Given the description of an element on the screen output the (x, y) to click on. 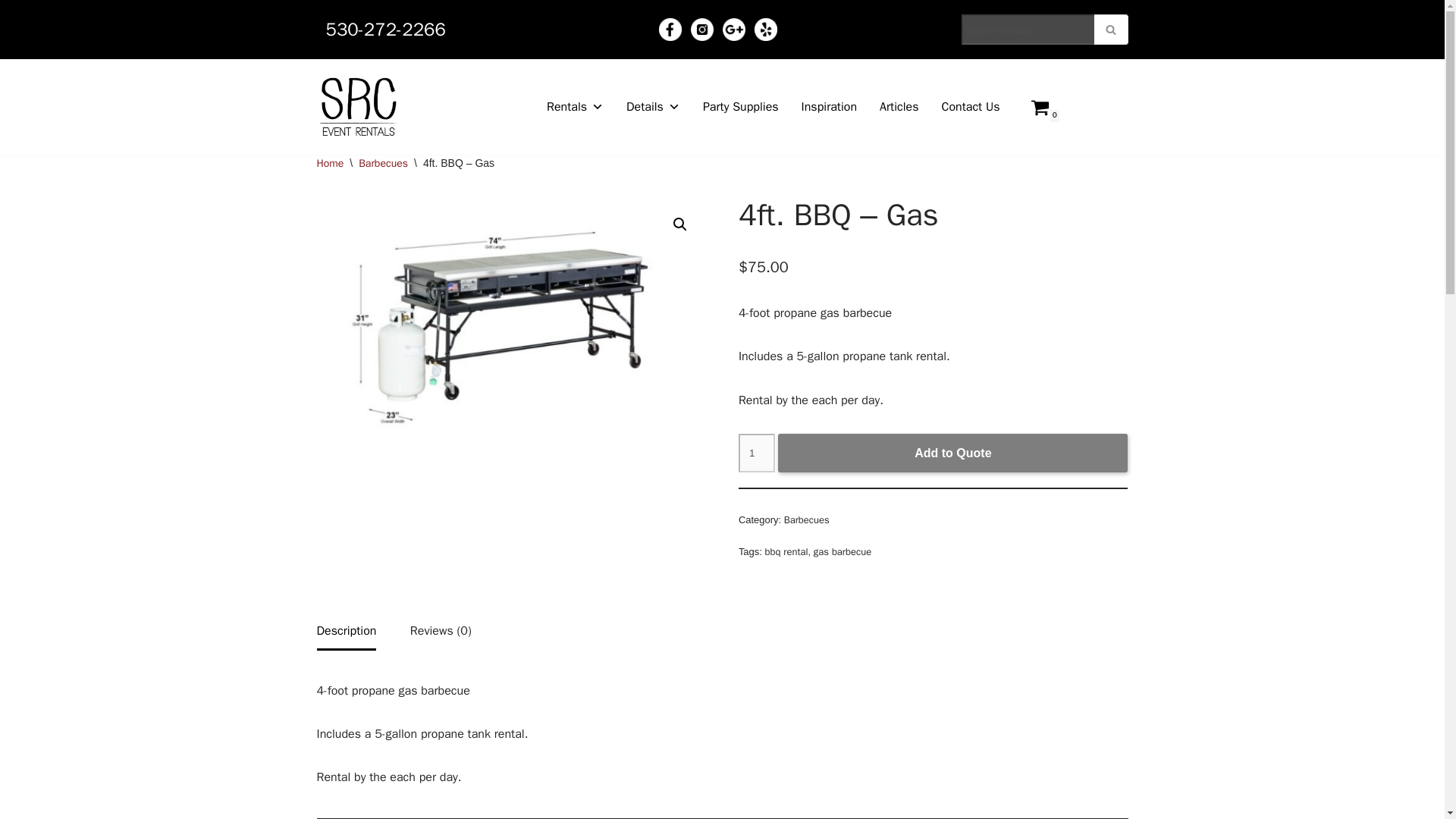
Skip to content (11, 31)
1 (756, 453)
530-272-2266 (385, 29)
4foot (511, 330)
